Given the description of an element on the screen output the (x, y) to click on. 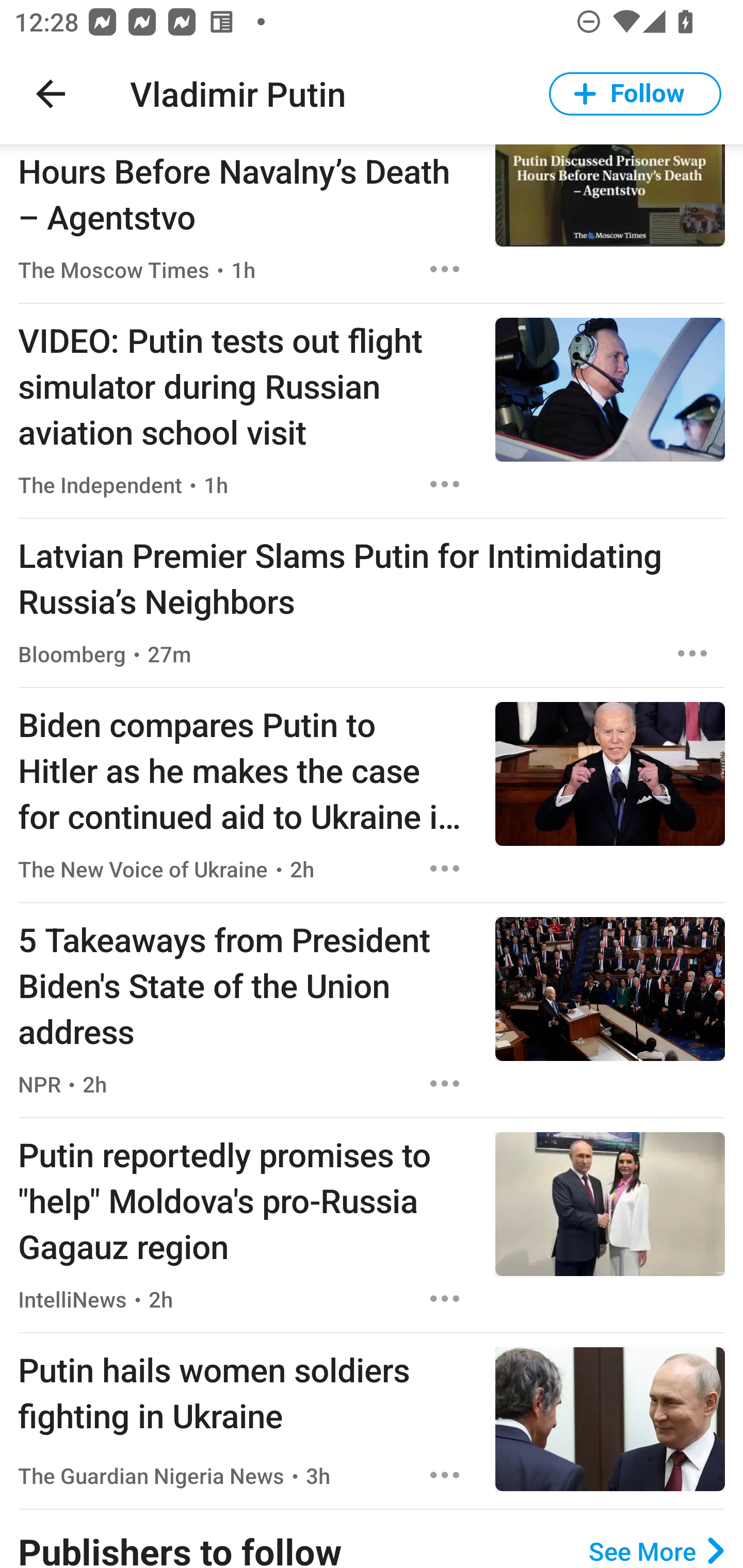
Navigate up (50, 93)
Follow (635, 94)
Options (444, 269)
Options (444, 484)
Options (692, 653)
Options (444, 868)
Options (444, 1083)
Options (444, 1298)
Options (444, 1475)
See More (656, 1550)
